Given the description of an element on the screen output the (x, y) to click on. 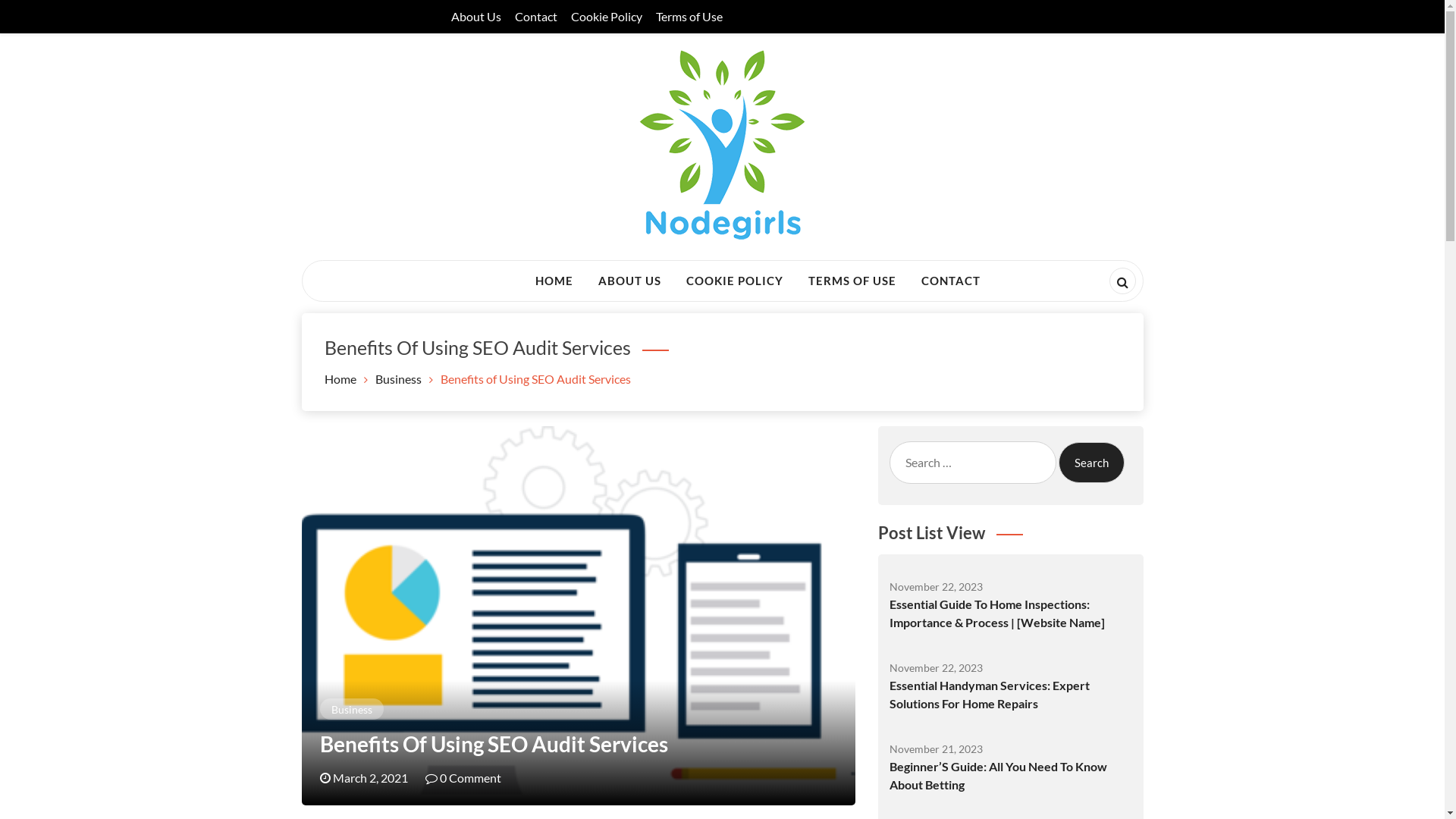
ABOUT US Element type: text (629, 280)
Search Element type: text (1091, 462)
HOME Element type: text (554, 280)
Cookie Policy Element type: text (605, 16)
COOKIE POLICY Element type: text (734, 280)
Business Element type: text (397, 378)
Contact Element type: text (535, 16)
Business Element type: text (350, 708)
Terms of Use Element type: text (688, 16)
Nodegirls Element type: text (365, 278)
Search Element type: text (39, 17)
TERMS OF USE Element type: text (852, 280)
Benefits Of Using SEO Audit Services Element type: text (494, 743)
CONTACT Element type: text (950, 280)
Home Element type: text (340, 378)
0 Comment Element type: text (462, 777)
About Us Element type: text (475, 16)
